Given the description of an element on the screen output the (x, y) to click on. 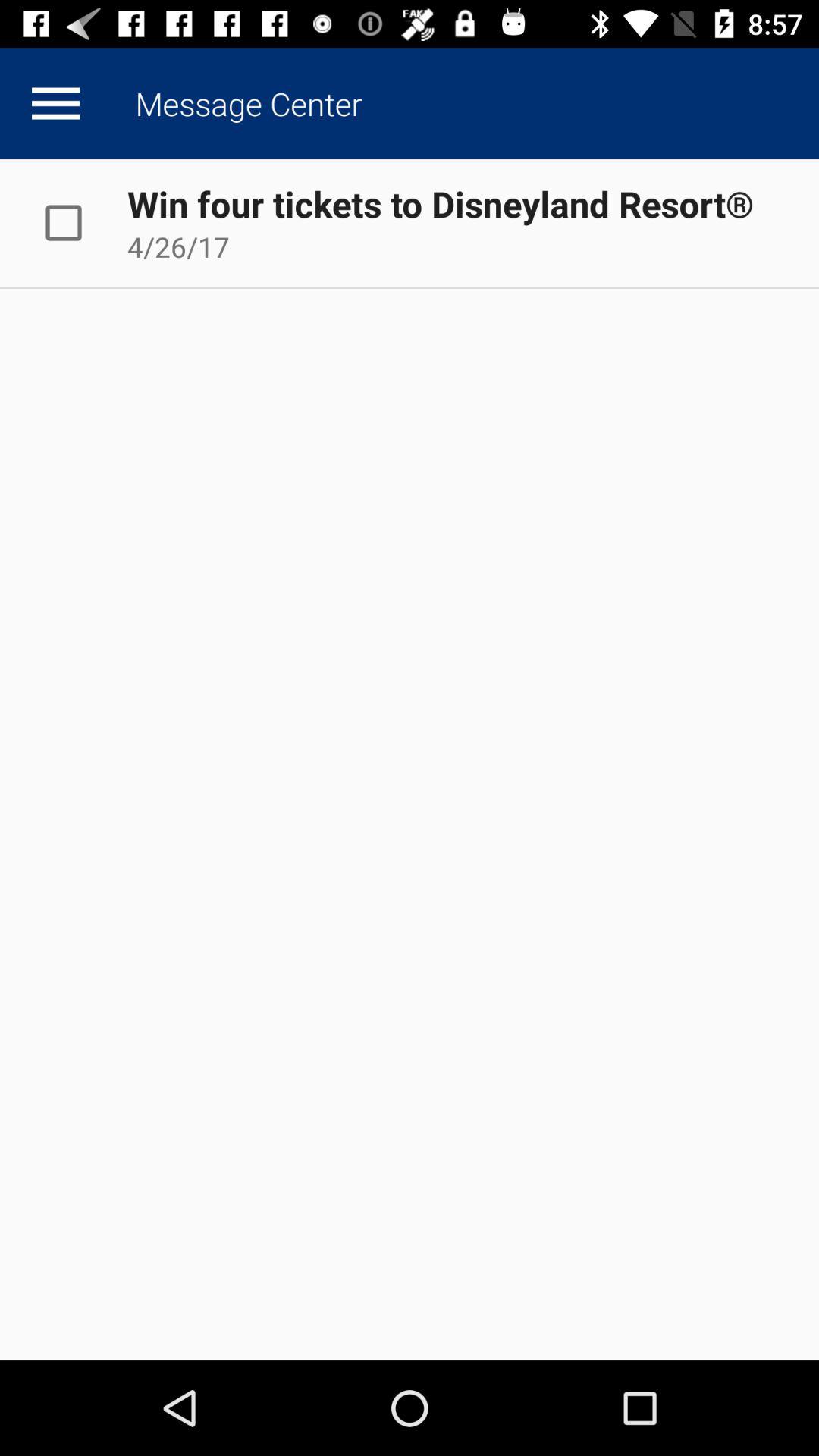
show more data (55, 103)
